Given the description of an element on the screen output the (x, y) to click on. 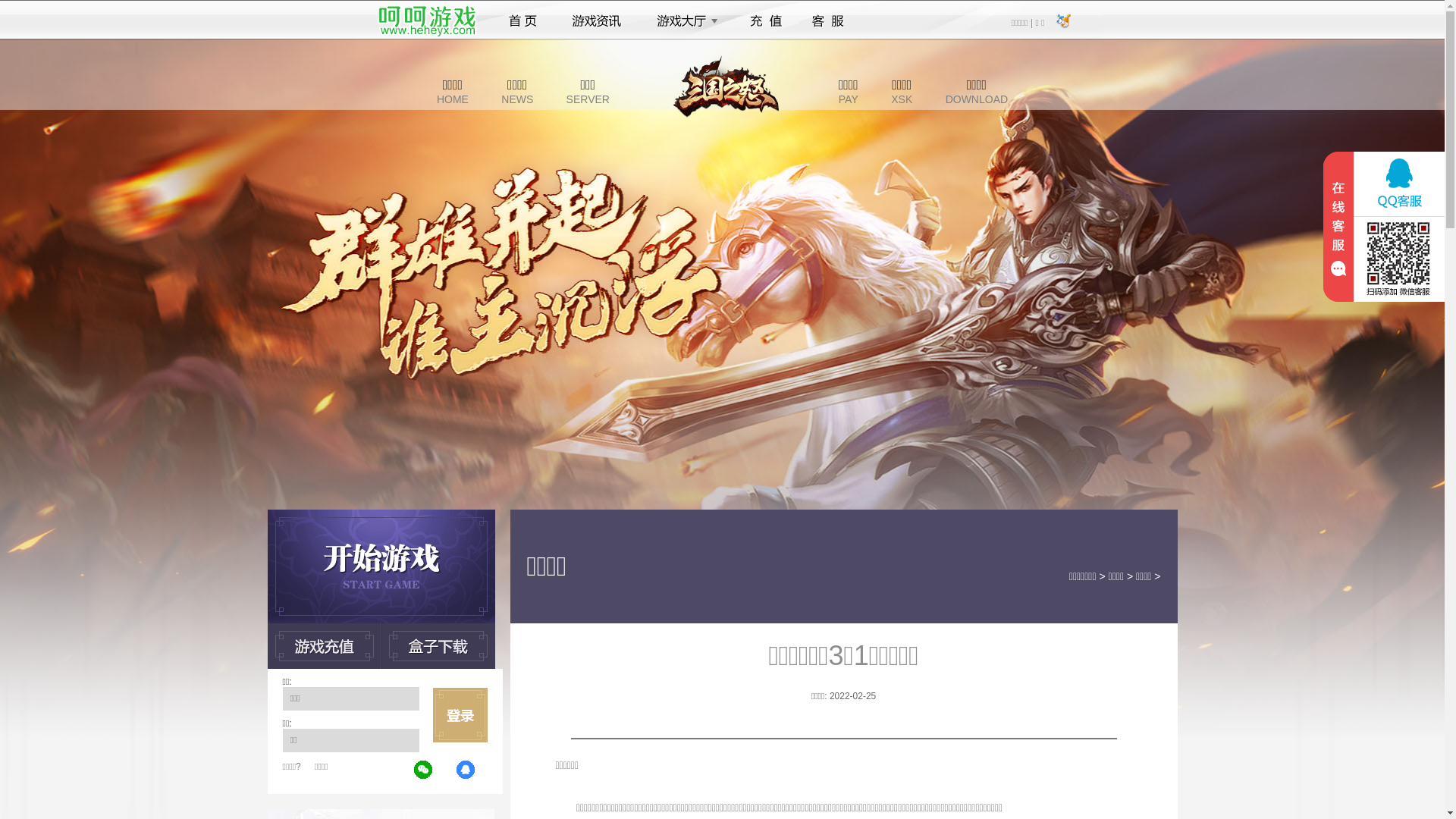
QQ Element type: hover (466, 770)
